Given the description of an element on the screen output the (x, y) to click on. 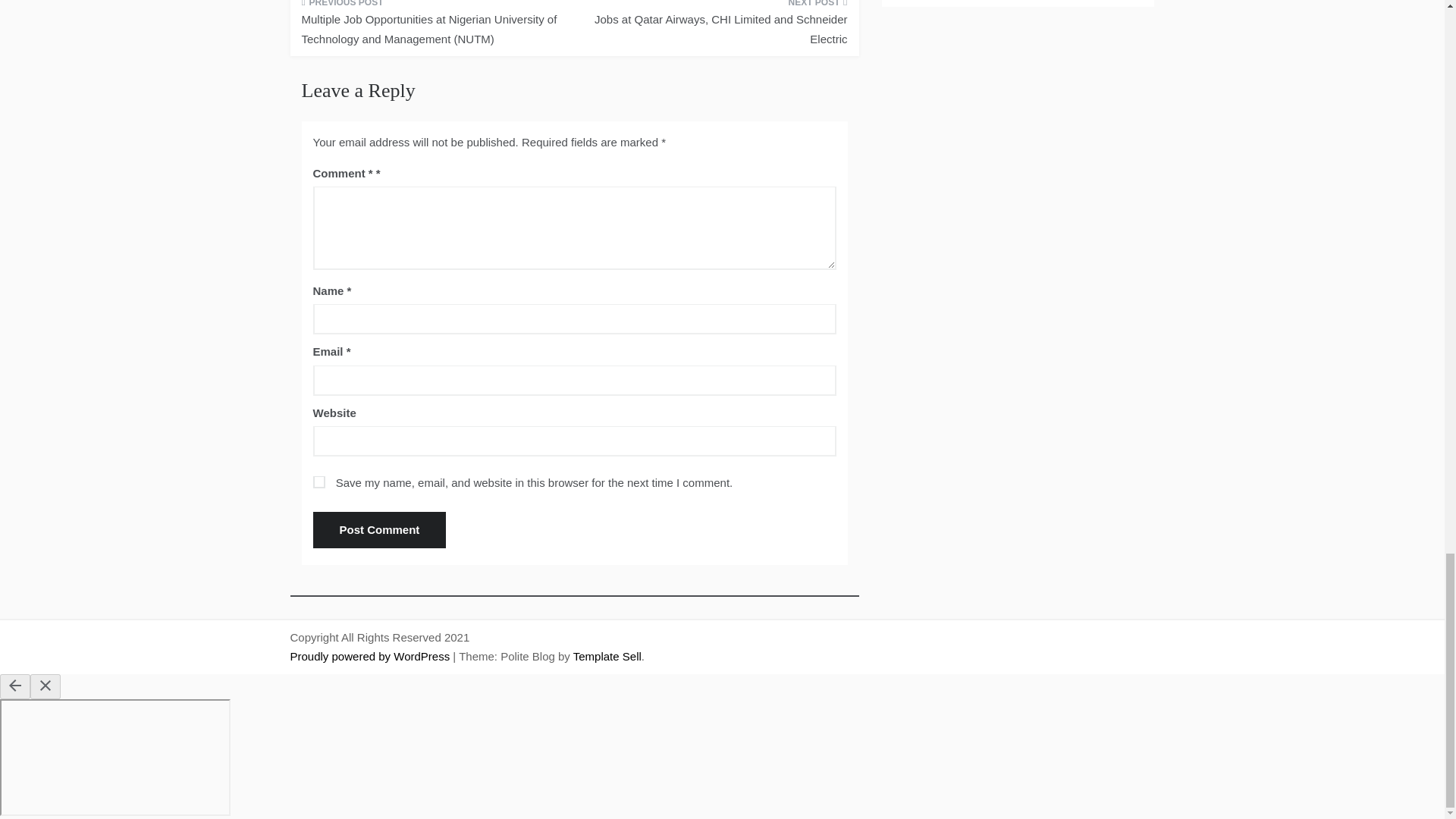
yes (318, 481)
Jobs at Qatar Airways, CHI Limited and Schneider Electric (716, 28)
Post Comment (379, 529)
Post Comment (379, 529)
